Given the description of an element on the screen output the (x, y) to click on. 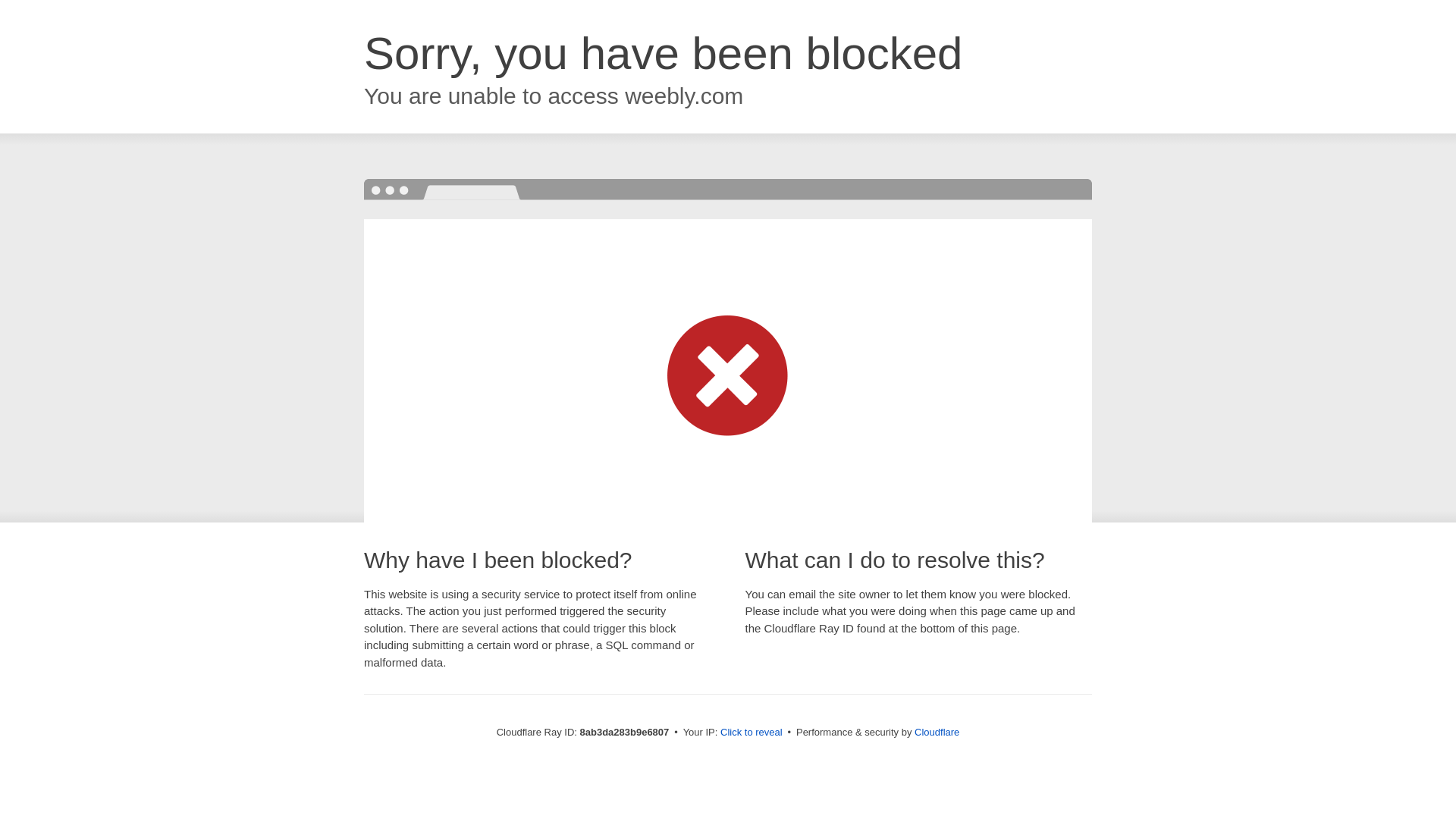
Cloudflare (936, 731)
Click to reveal (751, 732)
